Given the description of an element on the screen output the (x, y) to click on. 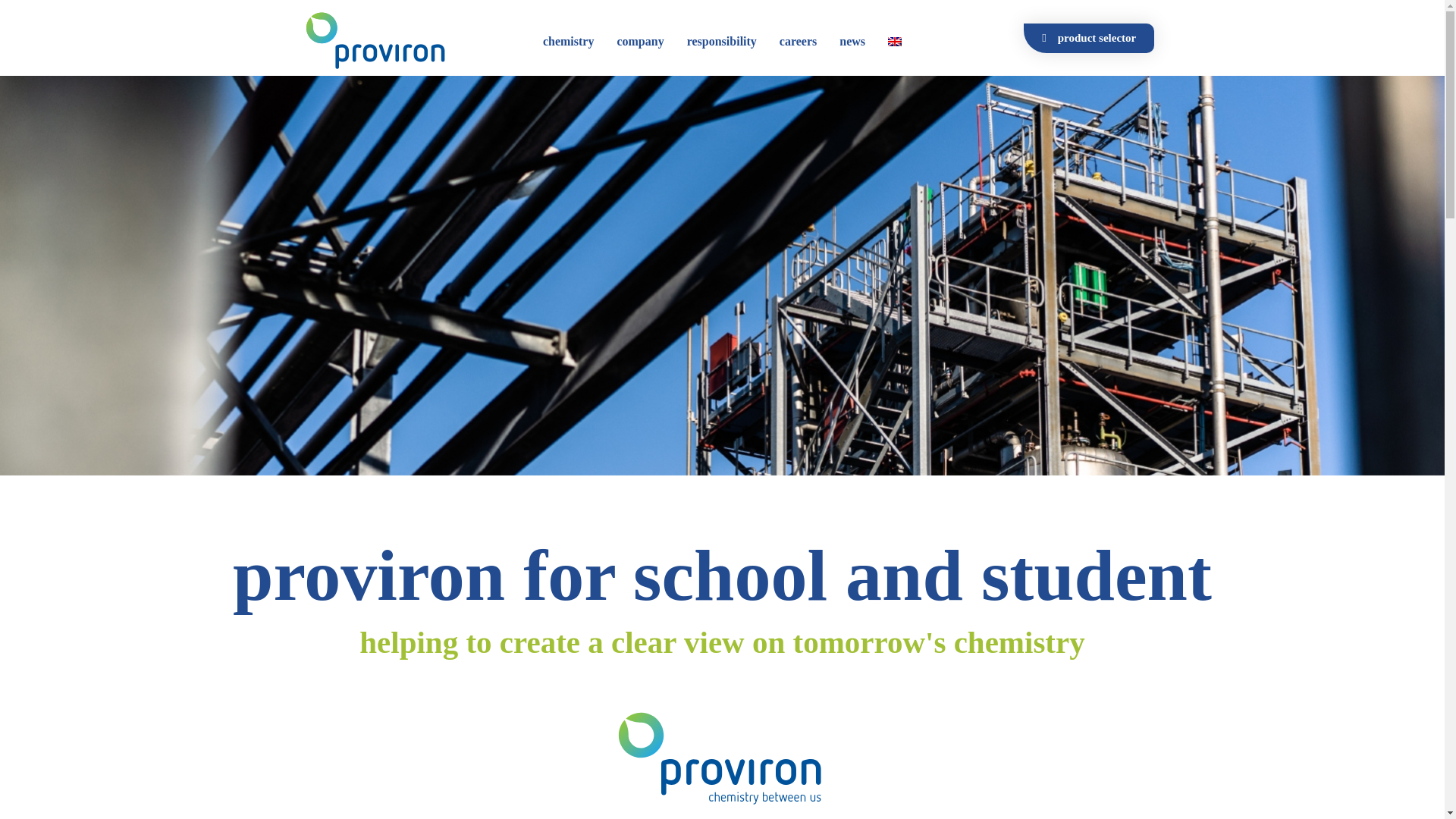
careers (797, 40)
chemistry (569, 40)
company (639, 40)
responsibility (721, 40)
